Given the description of an element on the screen output the (x, y) to click on. 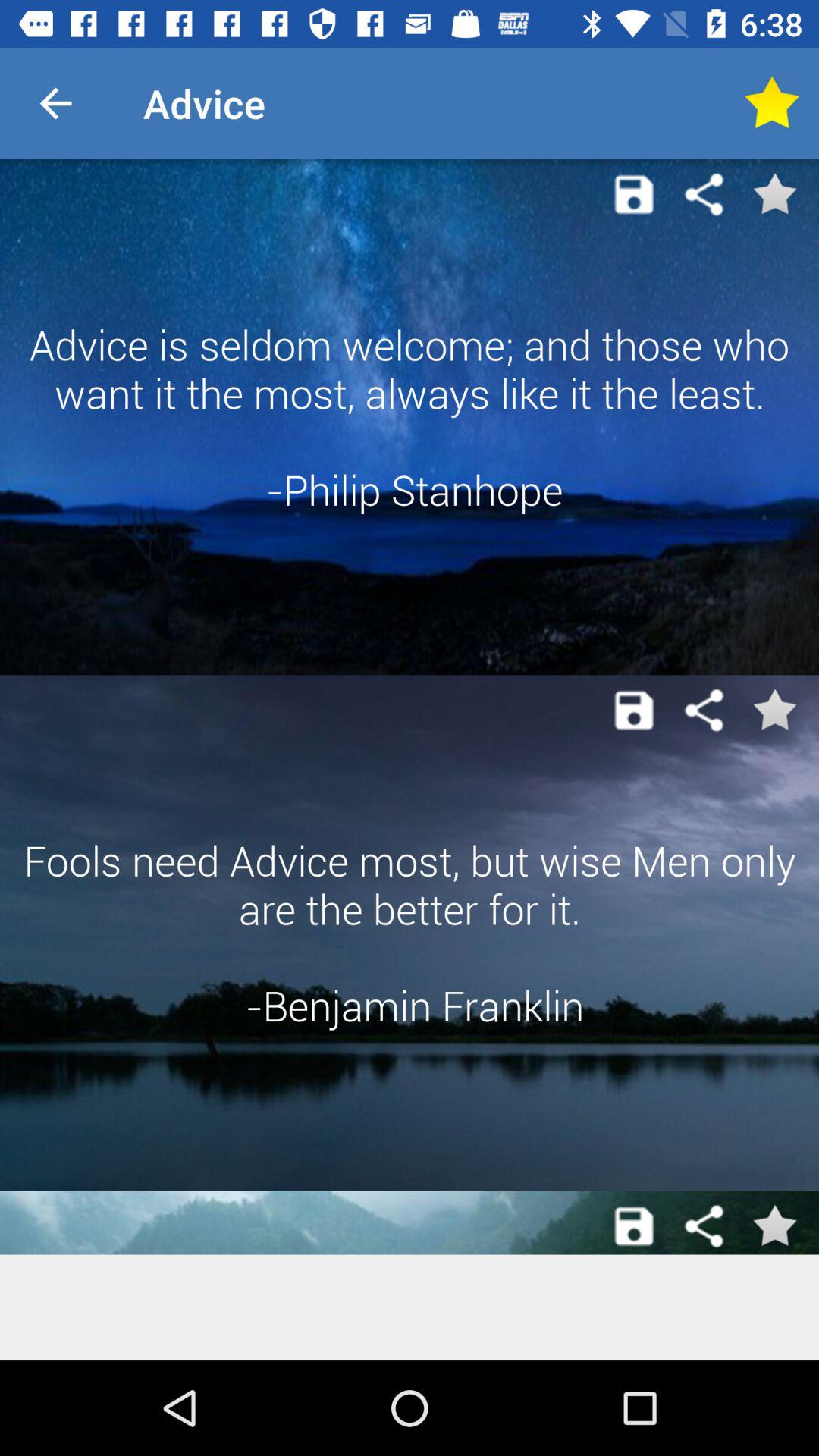
add to favorite (774, 1226)
